Given the description of an element on the screen output the (x, y) to click on. 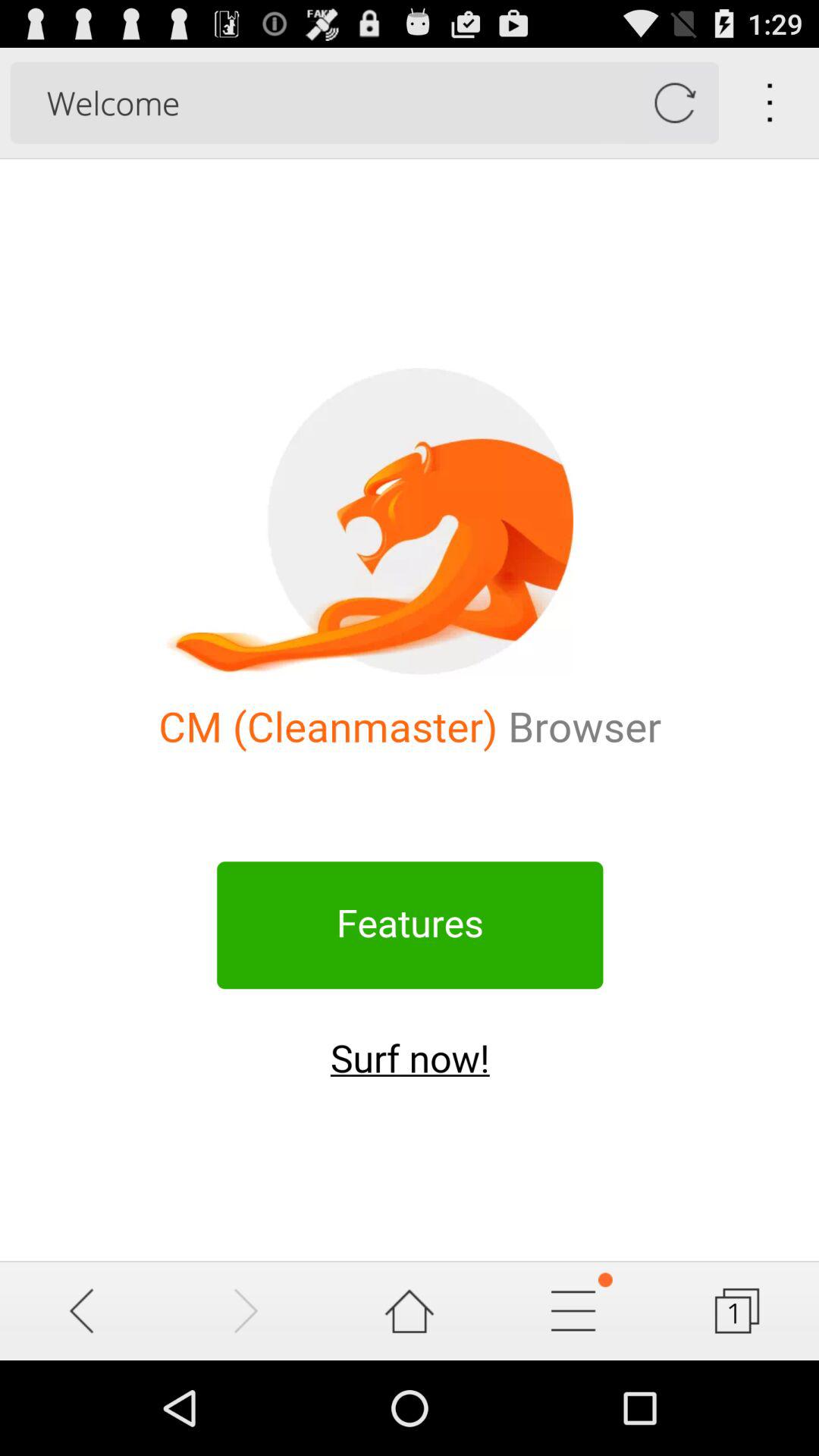
go back (81, 1310)
